Given the description of an element on the screen output the (x, y) to click on. 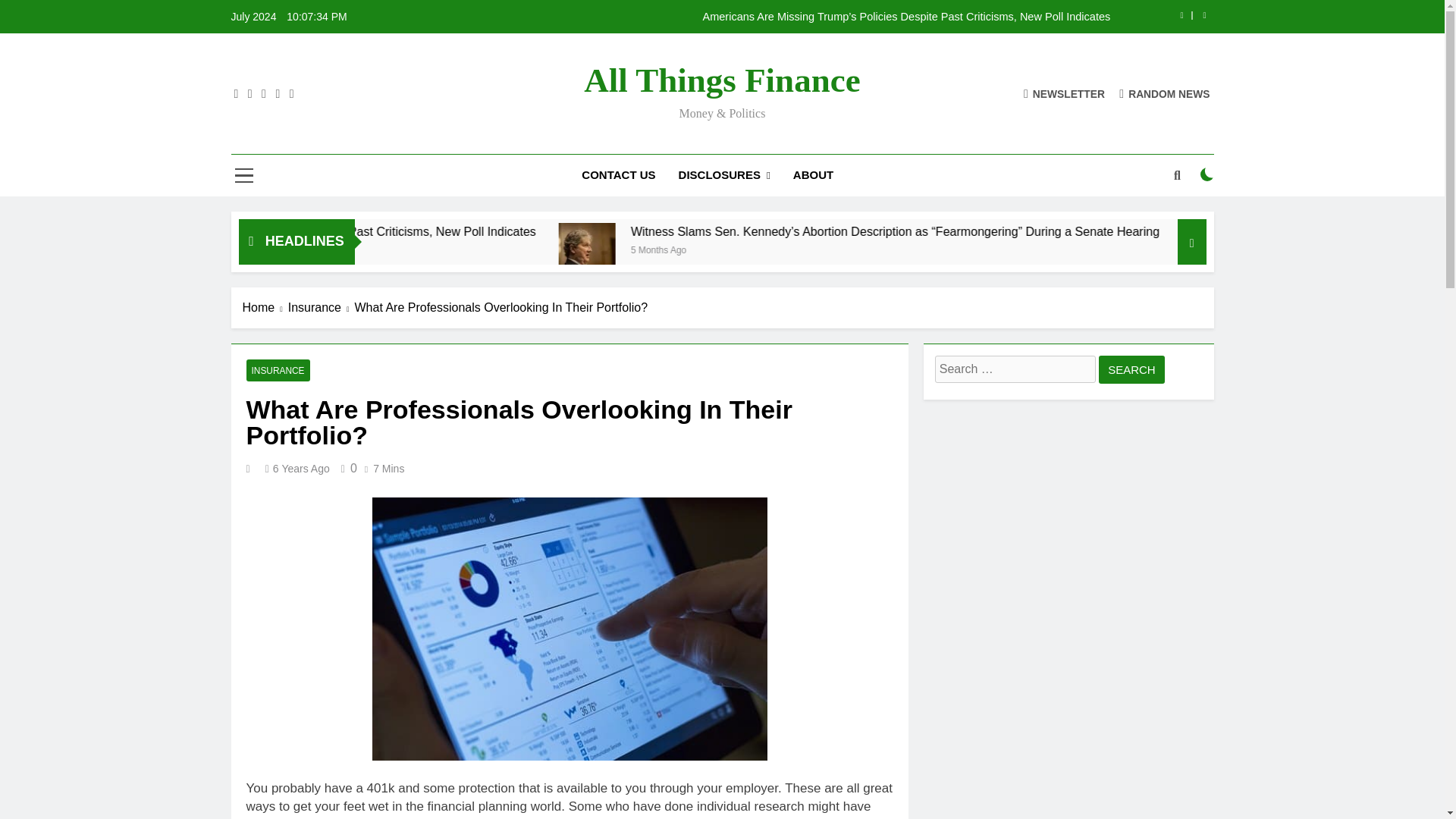
CONTACT US (618, 174)
RANDOM NEWS (1164, 92)
Search (1131, 369)
Search (1131, 369)
DISCLOSURES (723, 175)
5 Months Ago (858, 248)
ABOUT (812, 174)
on (1206, 173)
NEWSLETTER (1064, 92)
All Things Finance (721, 80)
